Given the description of an element on the screen output the (x, y) to click on. 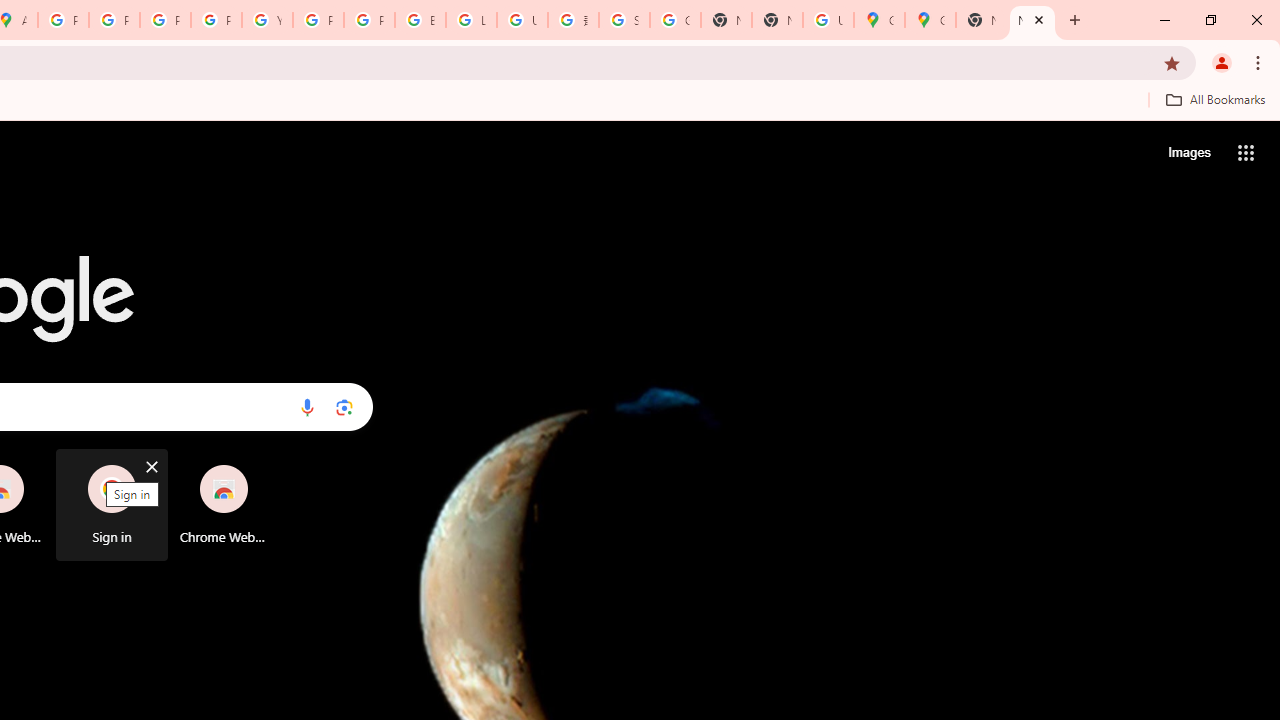
Chrome Web Store (223, 504)
YouTube (267, 20)
Privacy Help Center - Policies Help (164, 20)
